Given the description of an element on the screen output the (x, y) to click on. 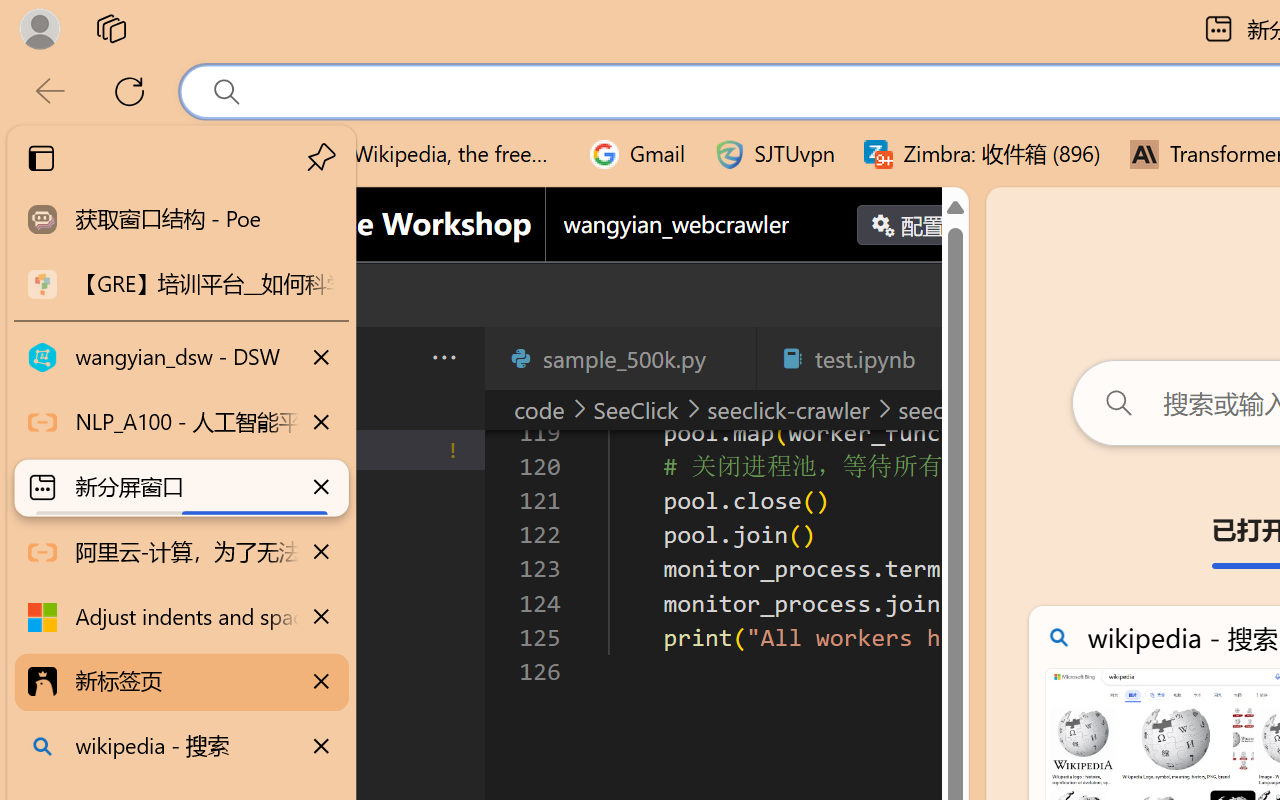
Views and More Actions... (442, 357)
Explorer actions (391, 358)
test.ipynb (864, 358)
wangyian_dsw - DSW (181, 357)
Gmail (637, 154)
Source Control (Ctrl+Shift+G) (135, 604)
